Given the description of an element on the screen output the (x, y) to click on. 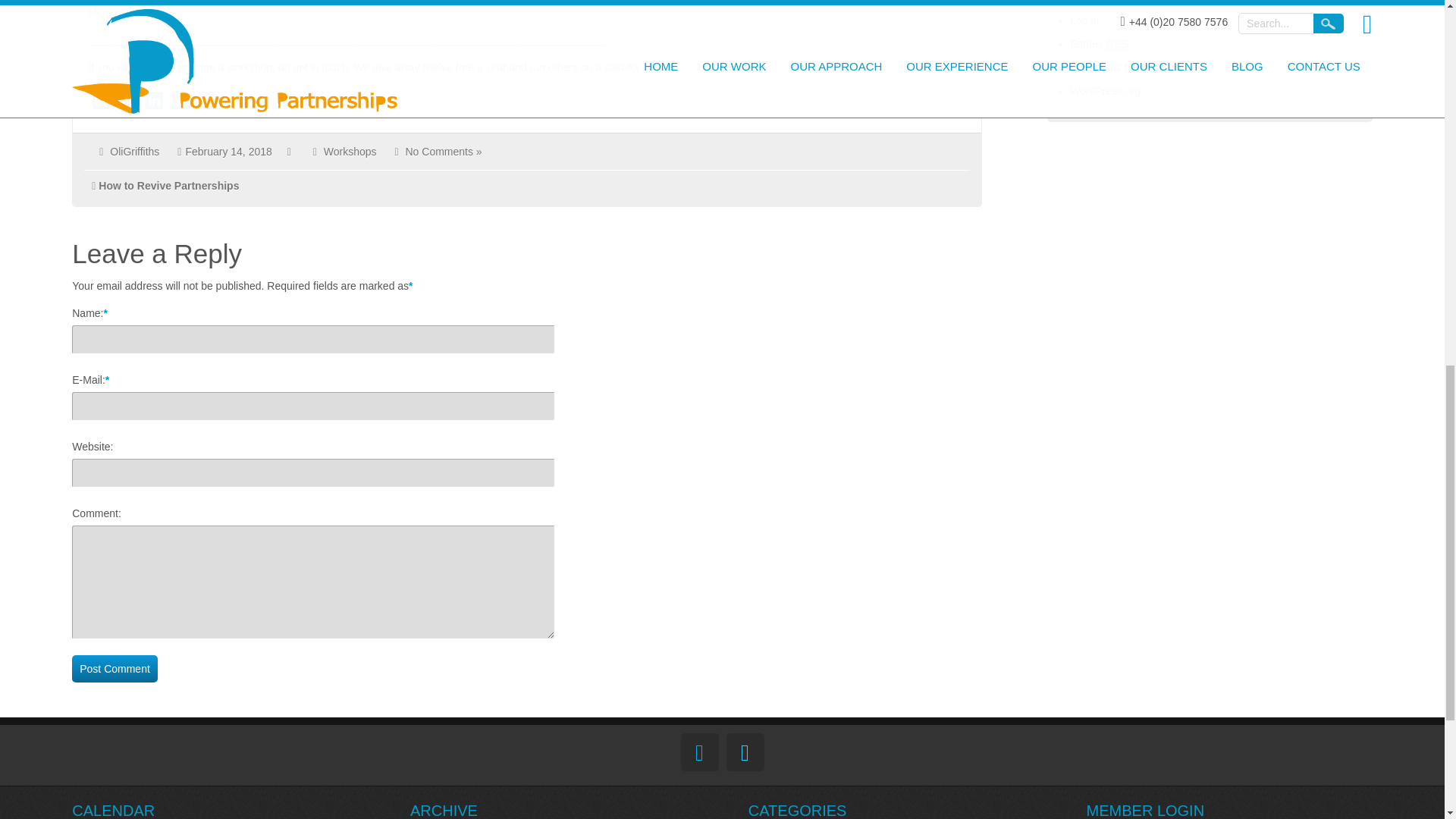
Really Simple Syndication (1117, 43)
Posts by OliGriffiths (134, 151)
Post Comment (114, 668)
Workshops (350, 151)
Log in (1084, 20)
How to Revive Partnerships (168, 185)
Really Simple Syndication (1135, 67)
Email (101, 99)
Facebook (207, 99)
OliGriffiths (134, 151)
Entries RSS (1098, 43)
Post Comment (114, 668)
Linkedin (154, 99)
Twitter (180, 99)
